Given the description of an element on the screen output the (x, y) to click on. 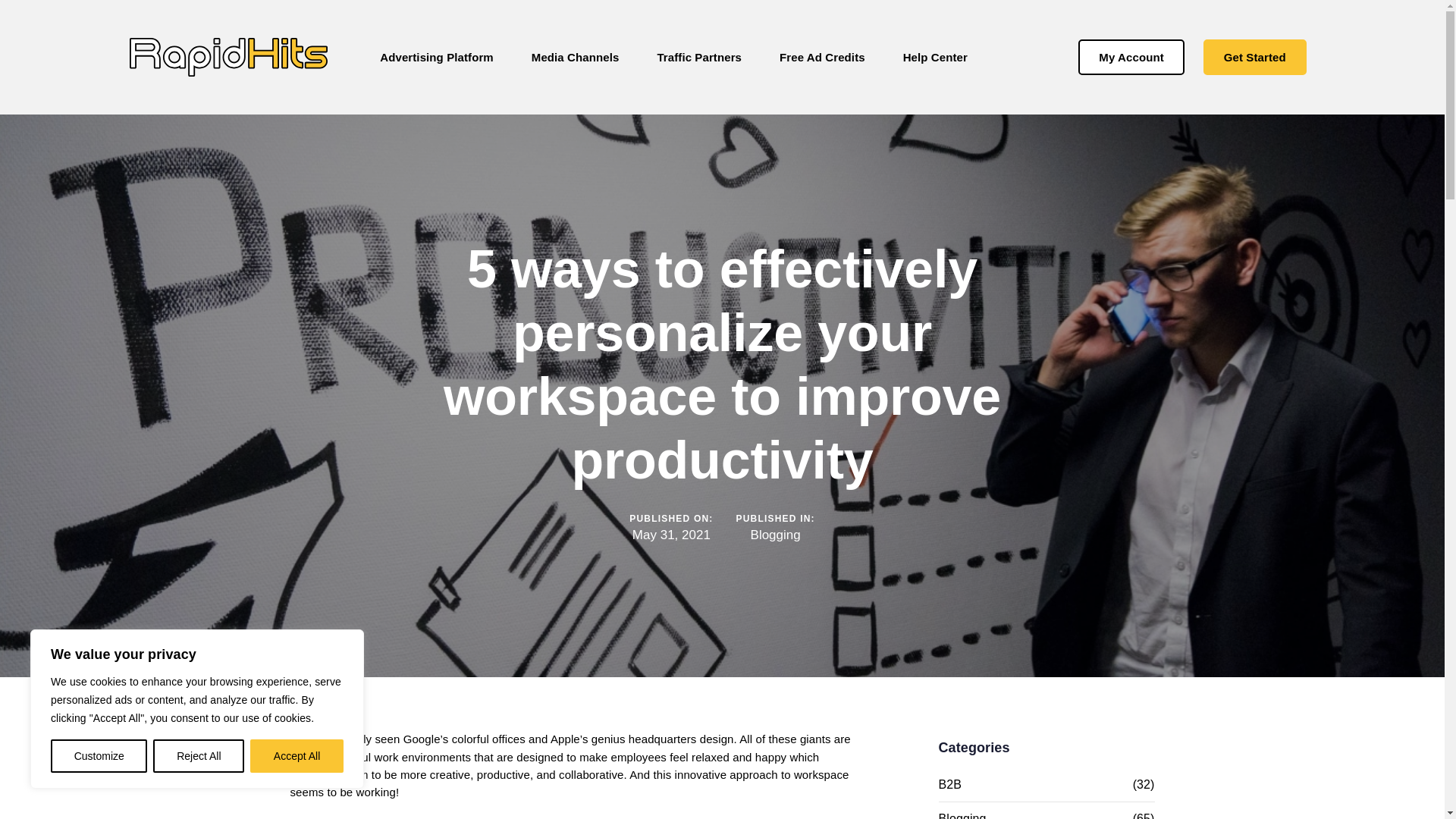
May 31, 2021 (670, 535)
Advertising Platform (436, 56)
Help Center (935, 56)
Get Started (1255, 57)
Free Ad Credits (821, 56)
Accept All (296, 756)
Traffic Partners (699, 56)
Customize (98, 756)
Media Channels (575, 56)
Blogging (775, 535)
My Account (1130, 57)
Reject All (198, 756)
